Given the description of an element on the screen output the (x, y) to click on. 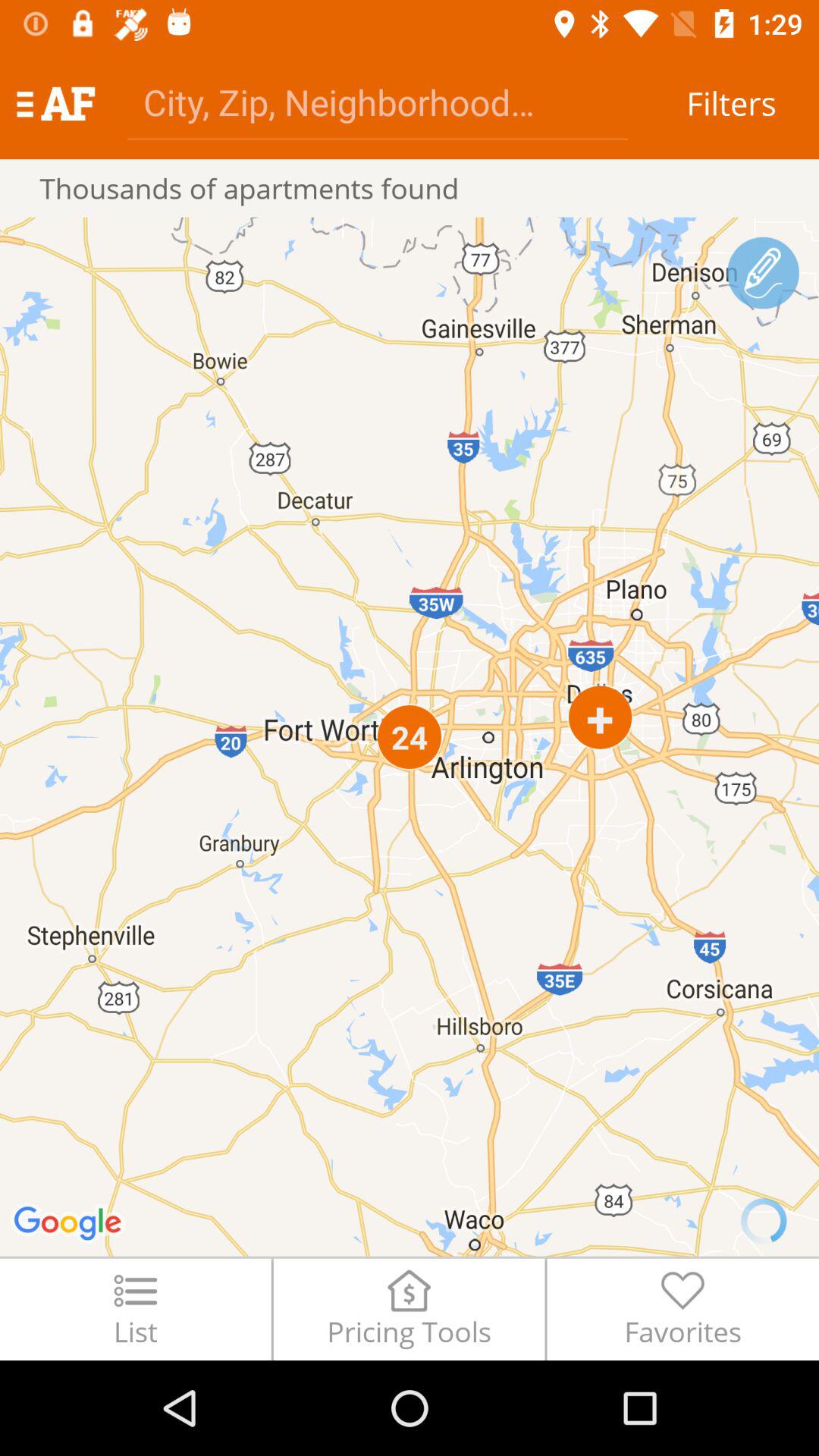
enter a physical address (377, 102)
